Given the description of an element on the screen output the (x, y) to click on. 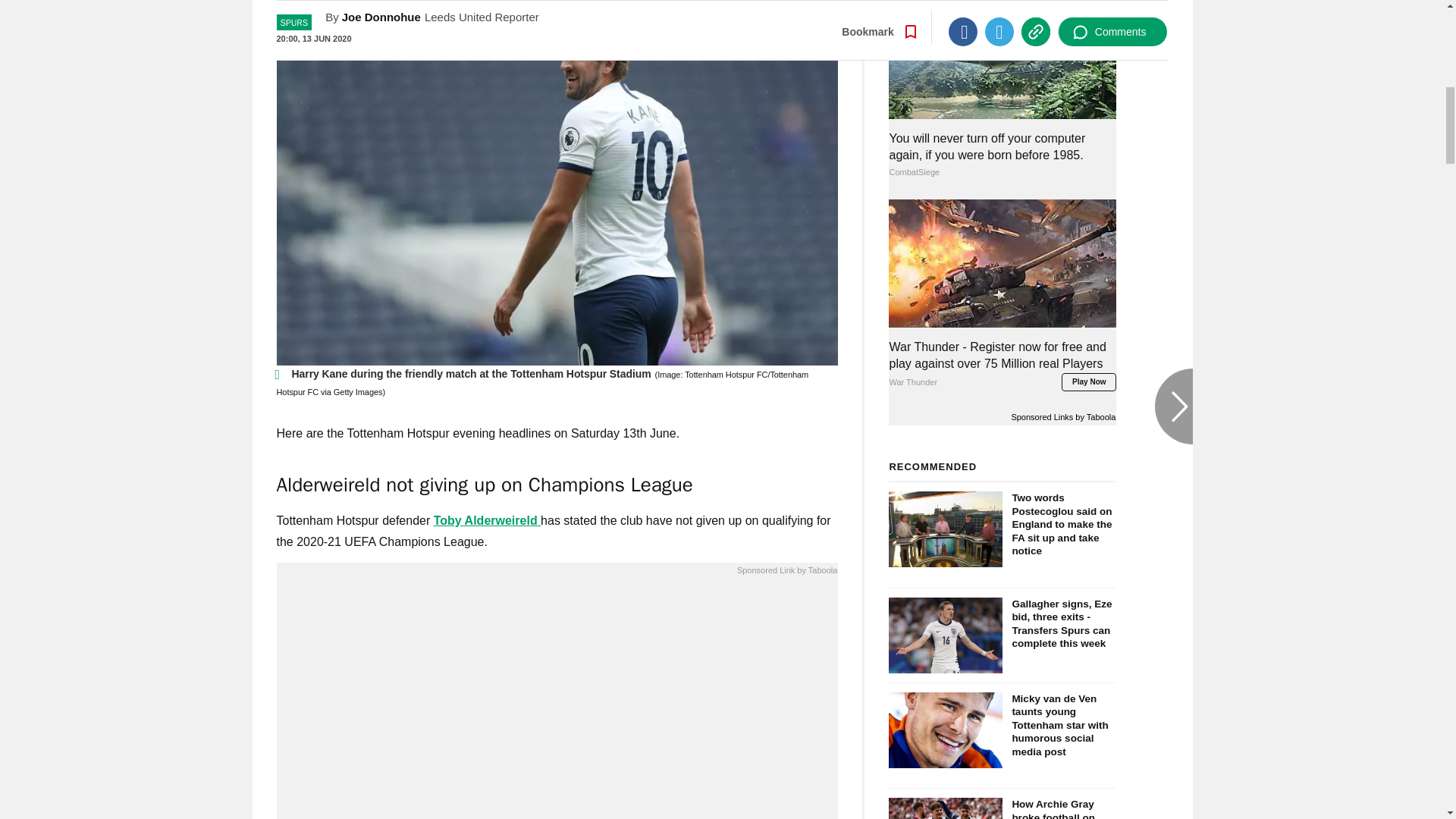
What is your writing missing? (557, 701)
